Given the description of an element on the screen output the (x, y) to click on. 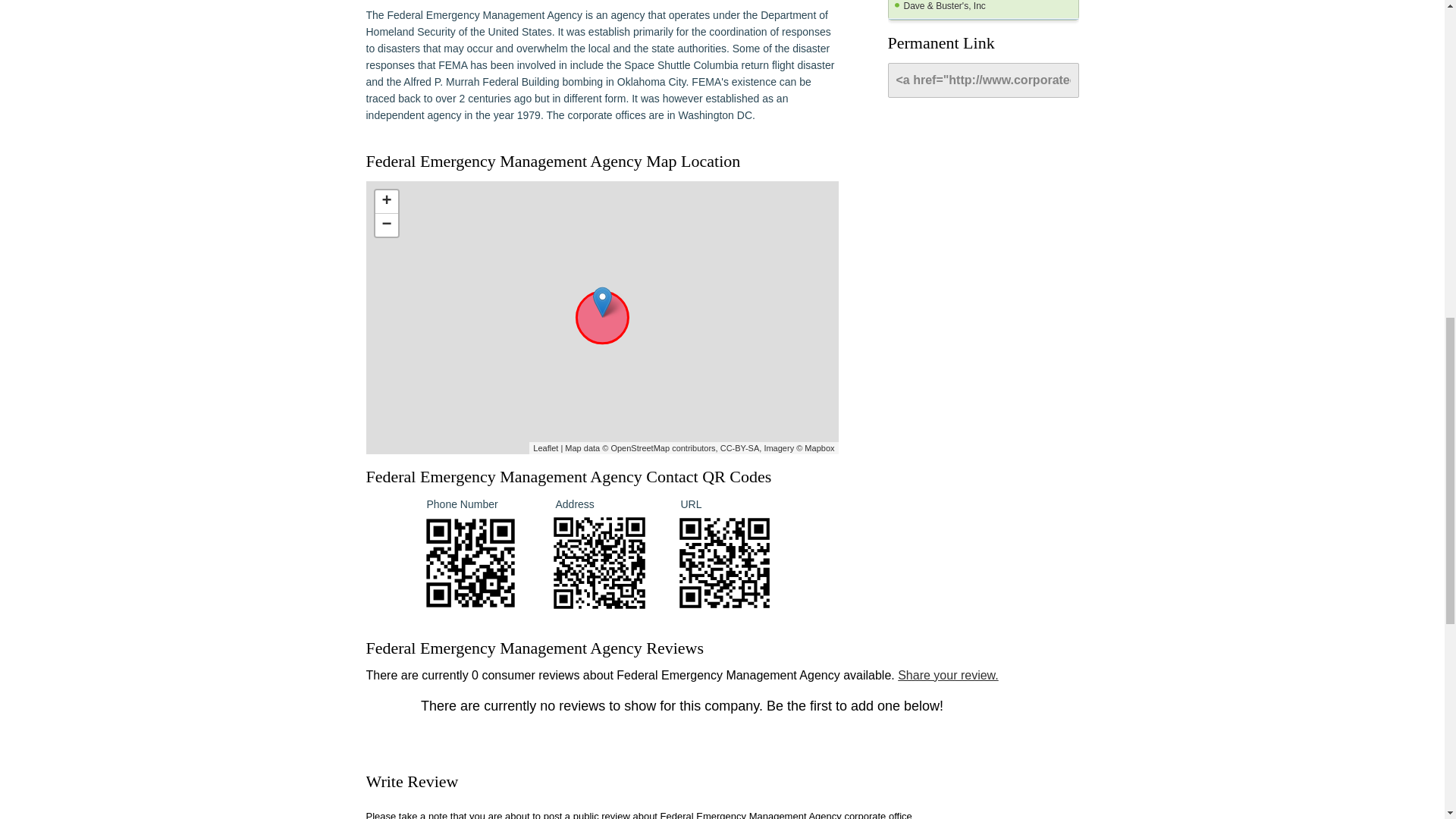
Zoom in (385, 201)
Zoom out (385, 224)
Share your review. (948, 675)
Mapbox (819, 447)
A JS library for interactive maps (544, 447)
CC-BY-SA (740, 447)
OpenStreetMap (639, 447)
Leaflet (544, 447)
